Given the description of an element on the screen output the (x, y) to click on. 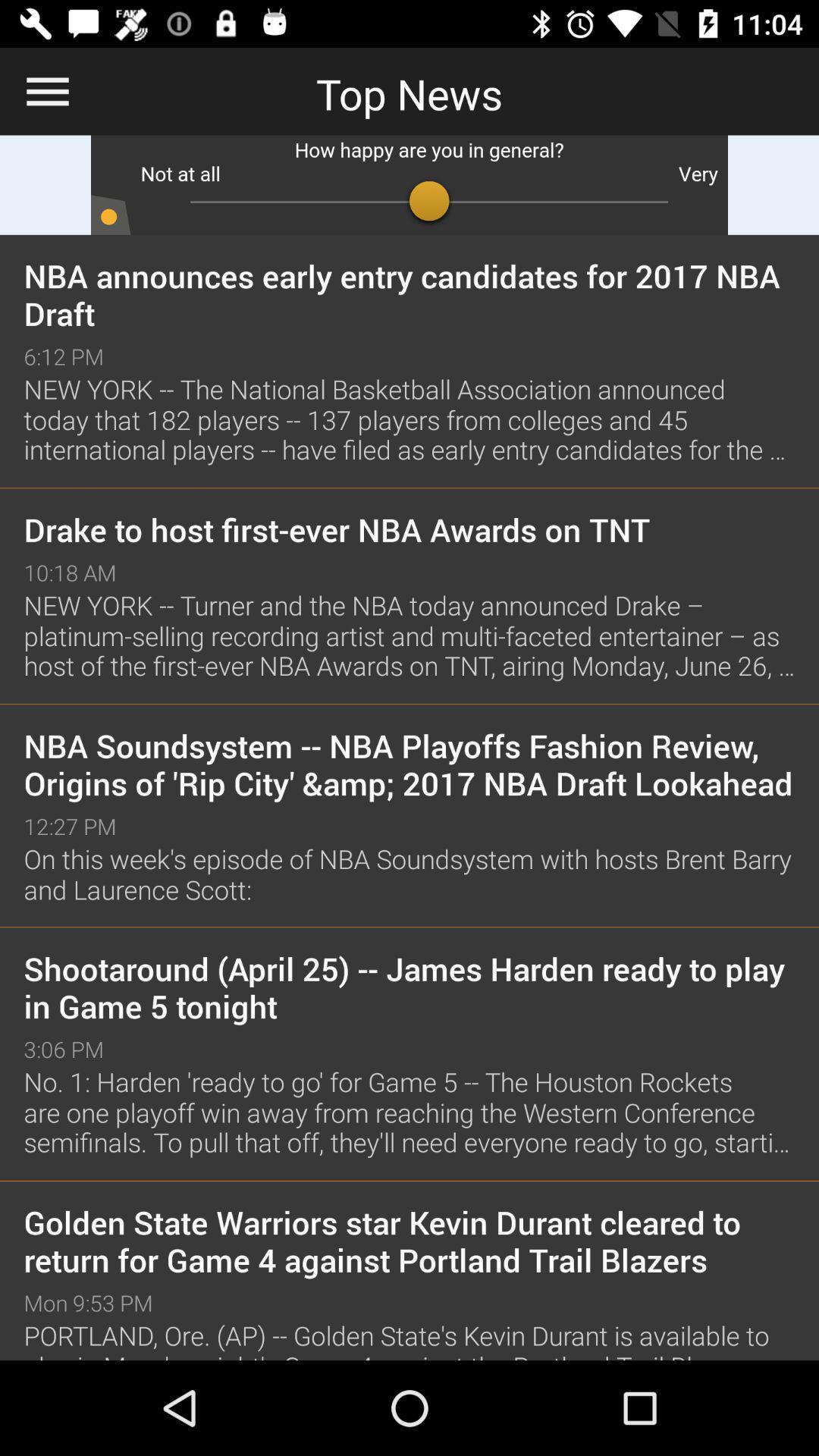
move of the option (409, 184)
